Given the description of an element on the screen output the (x, y) to click on. 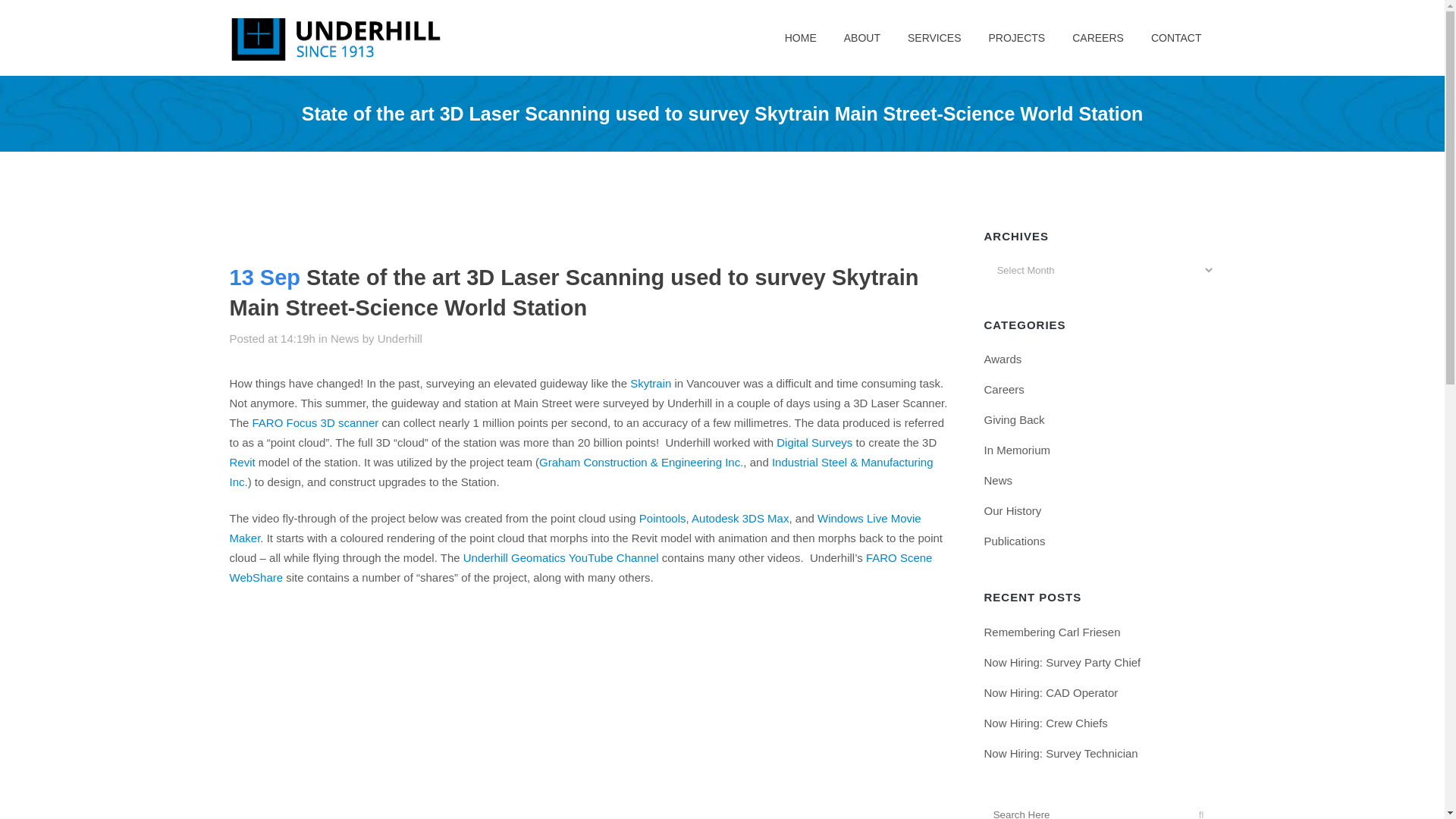
SERVICES (934, 38)
CAREERS (1097, 38)
PROJECTS (1017, 38)
CONTACT (1176, 38)
